Given the description of an element on the screen output the (x, y) to click on. 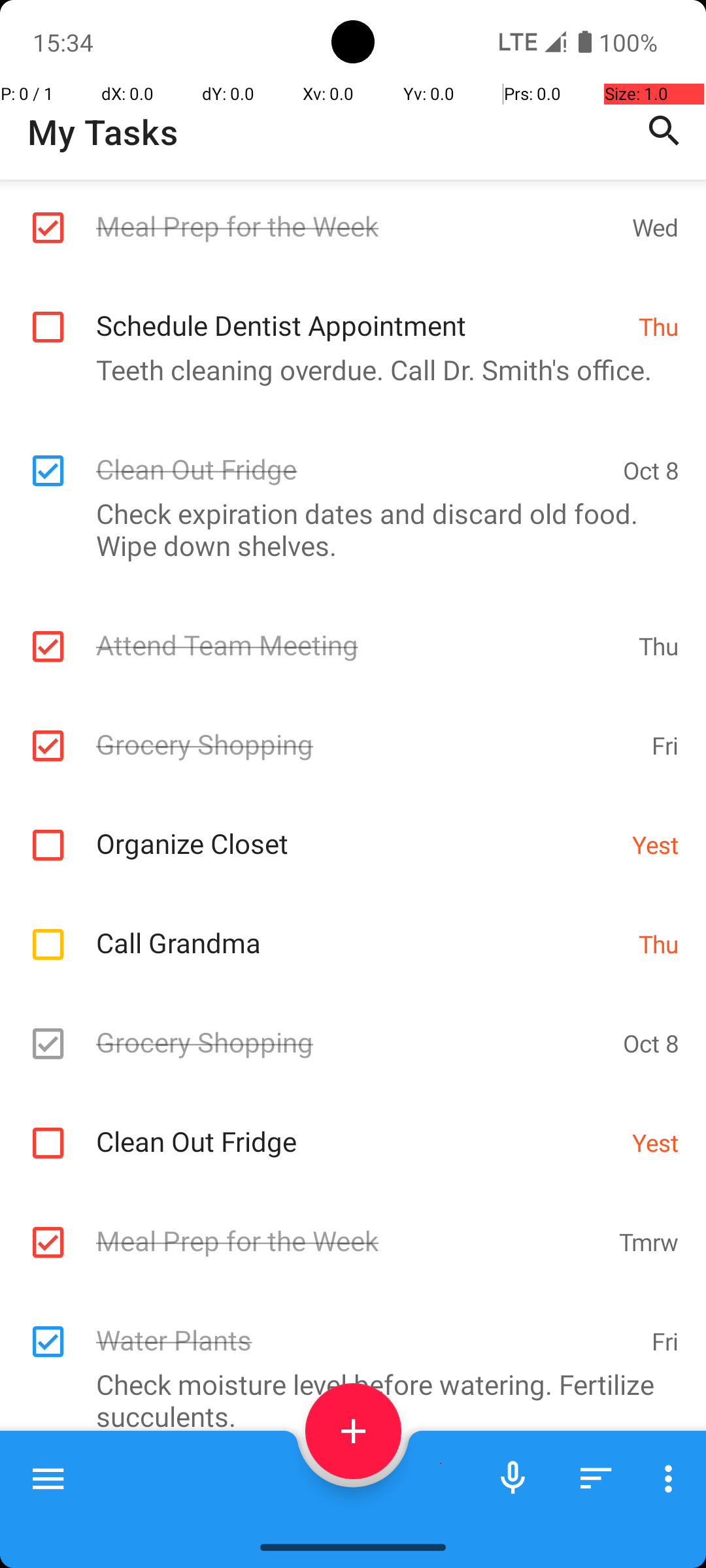
Check expiration dates and discard old food. Wipe down shelves. Element type: android.widget.TextView (346, 528)
Code Review Element type: android.widget.TextView (357, 1497)
